Given the description of an element on the screen output the (x, y) to click on. 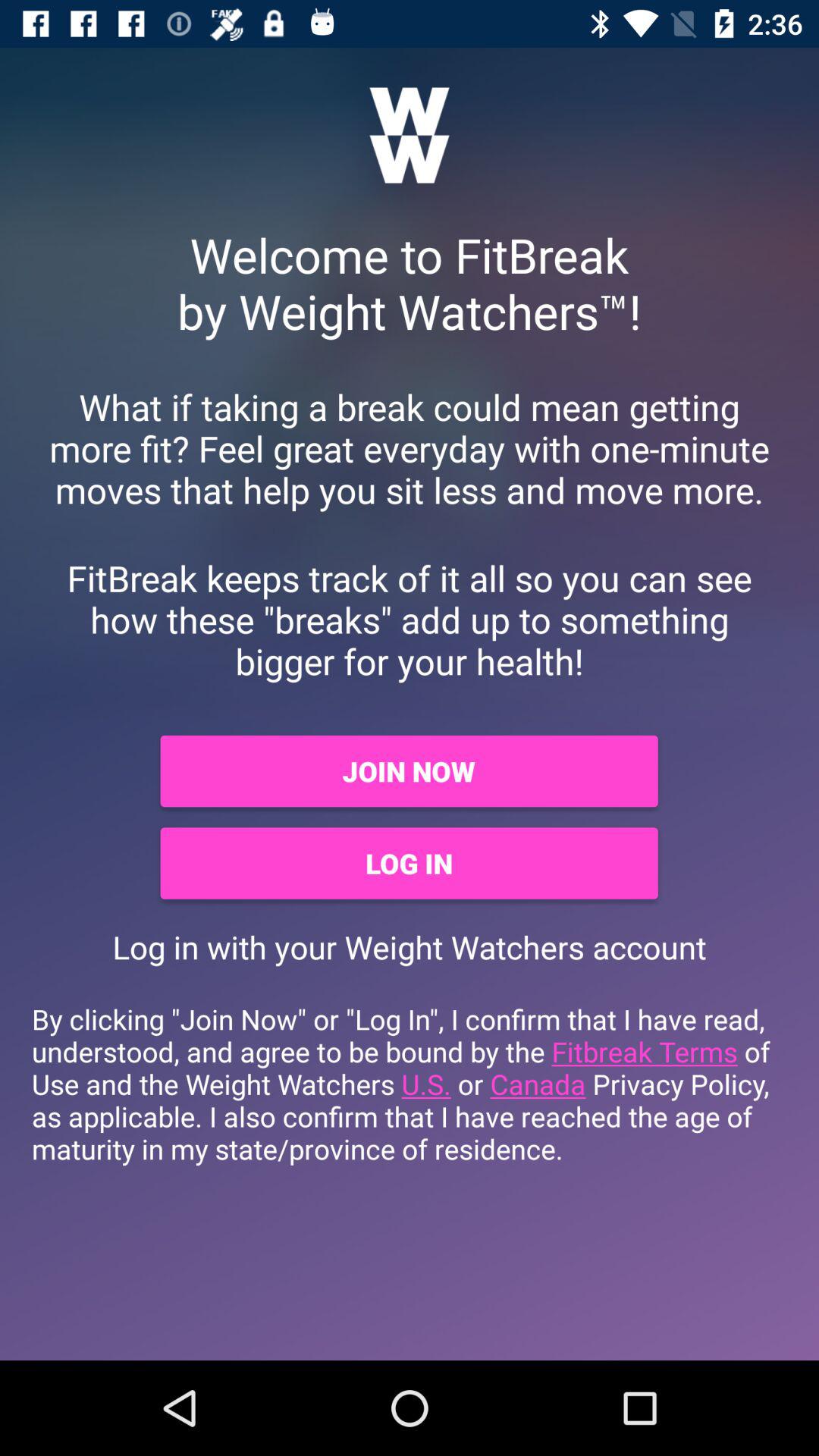
swipe until the by clicking join (409, 1083)
